Given the description of an element on the screen output the (x, y) to click on. 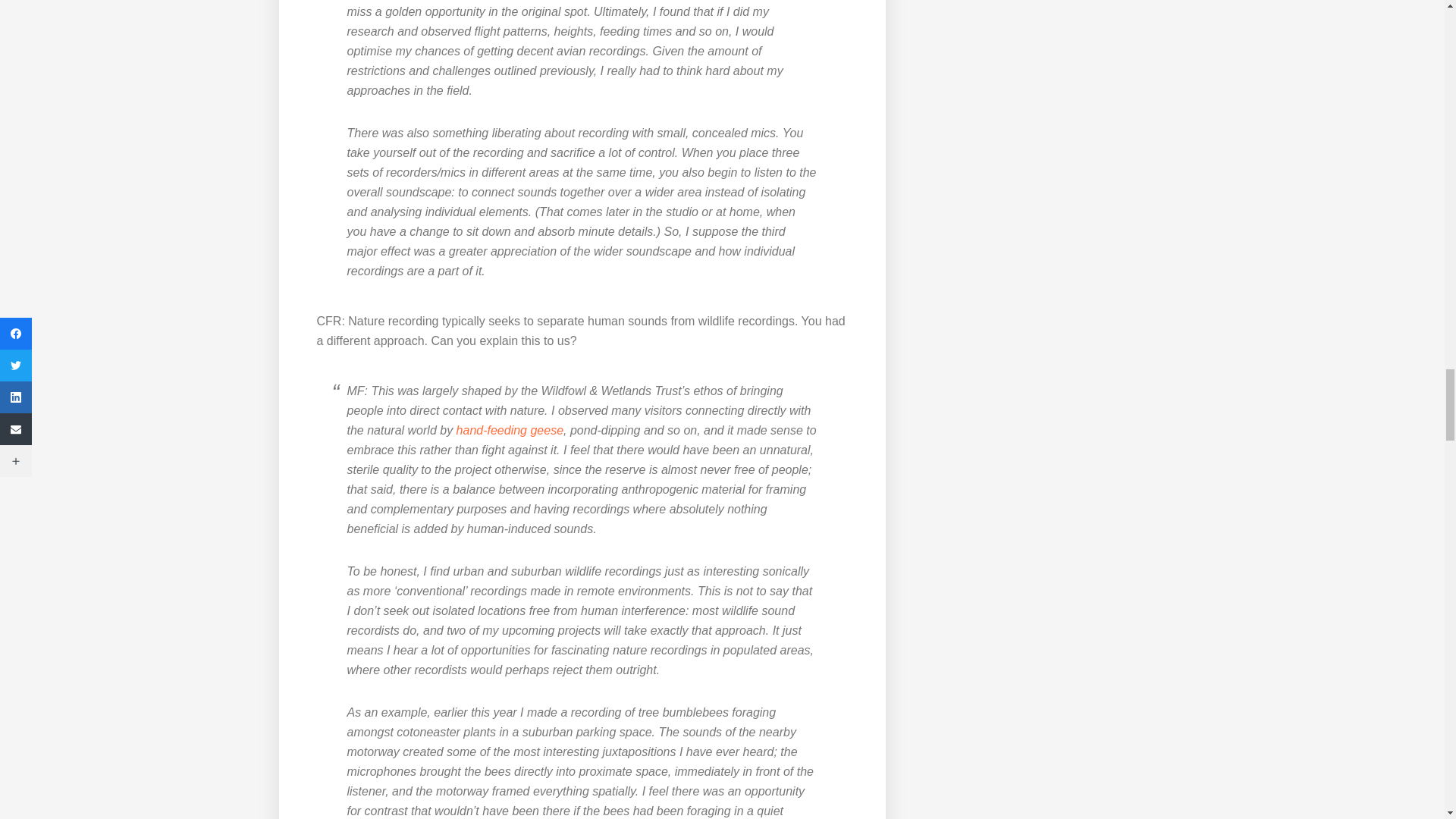
hand-feeding geese (510, 430)
